Given the description of an element on the screen output the (x, y) to click on. 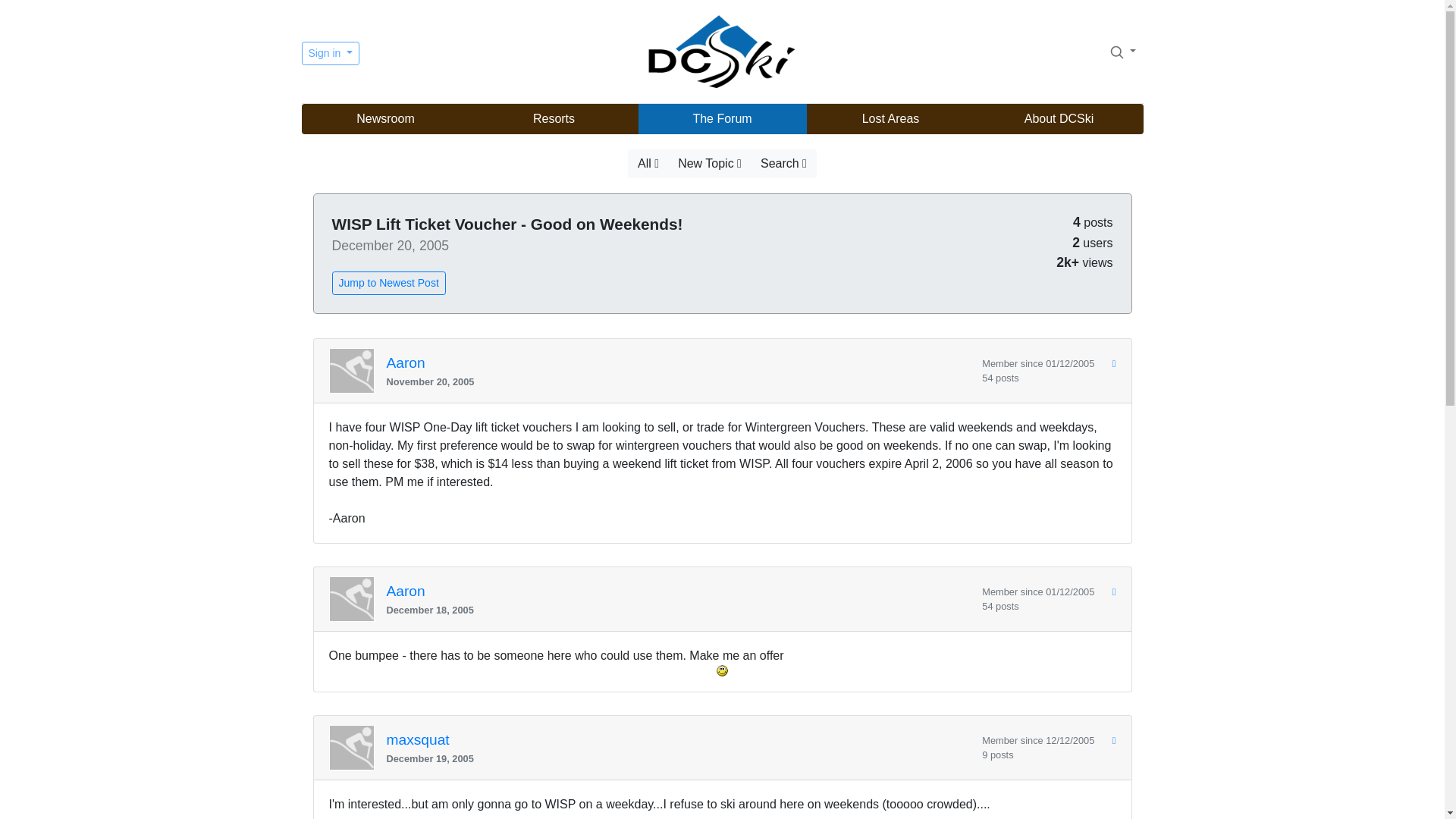
December 18, 2005 at 09:38 pm (679, 609)
Jump to Newest Post (388, 282)
Newsroom (385, 119)
maxsquat (418, 739)
Sign in (330, 53)
Lost Areas (890, 119)
Search (1122, 51)
The Forum (722, 119)
About DCSki (1058, 119)
December 19, 2005 at 09:14 am (679, 758)
Aaron (406, 591)
Resorts (554, 119)
Aaron (406, 363)
November 20, 2005 at 08:25 pm (679, 381)
Search (1116, 52)
